Given the description of an element on the screen output the (x, y) to click on. 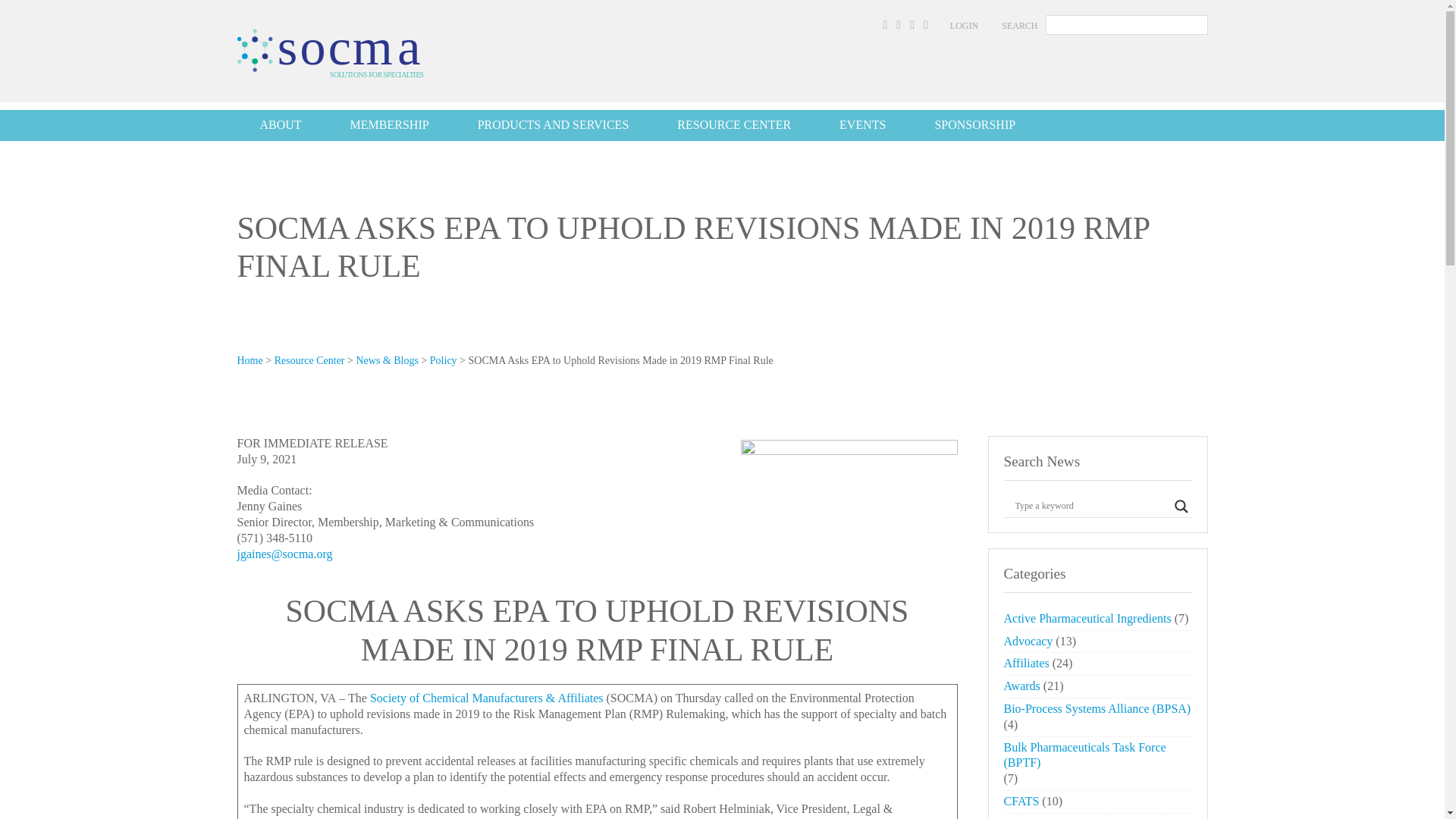
ABOUT (279, 124)
SEARCH (1019, 25)
Go to Resource Center. (310, 360)
PRODUCTS AND SERVICES (553, 124)
LOGIN (964, 25)
MEMBERSHIP (389, 124)
Go to the Policy category archives. (443, 360)
